Given the description of an element on the screen output the (x, y) to click on. 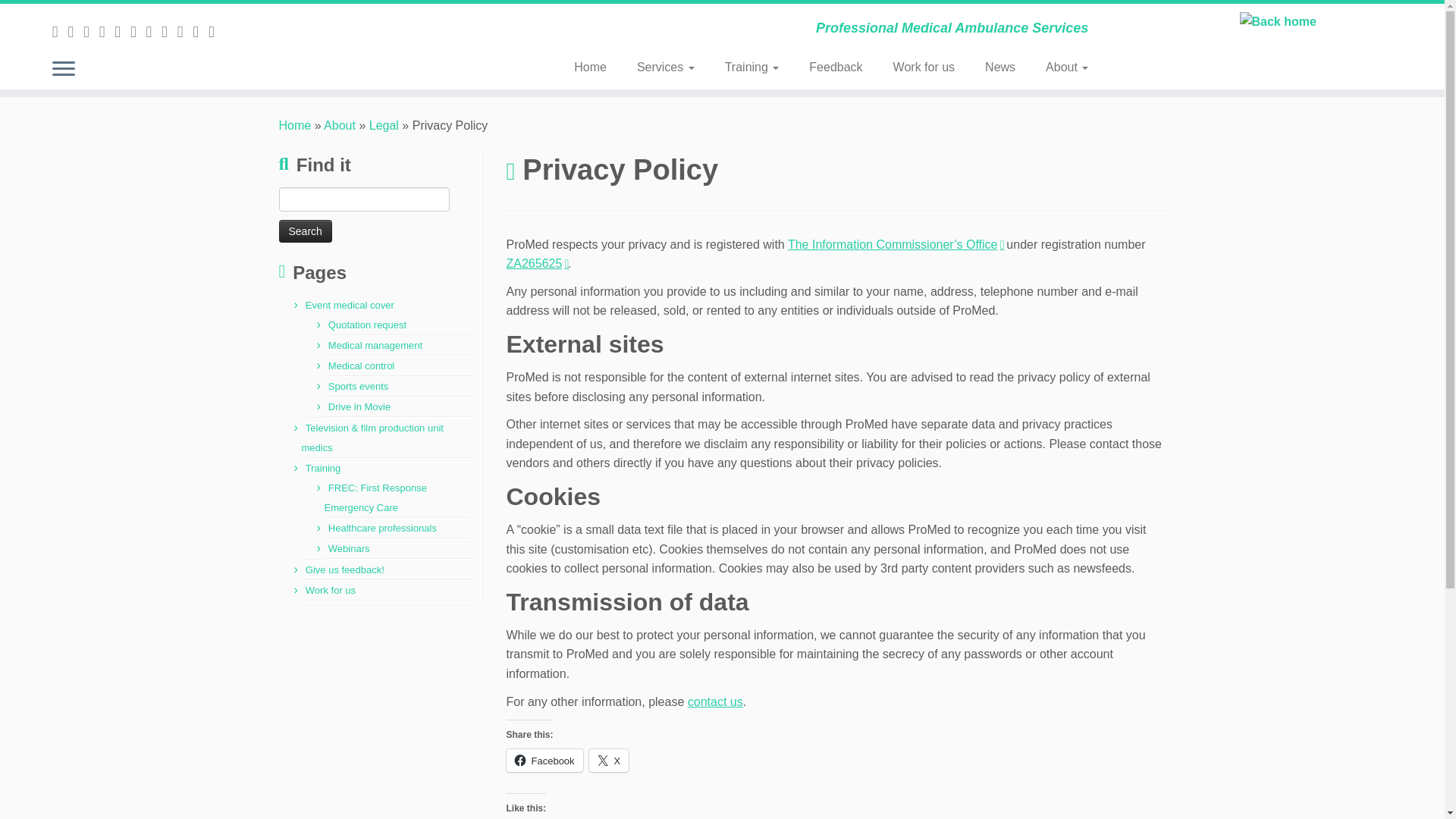
Send us a message via WhatsApp (90, 31)
Follow us on Pinterest (216, 31)
Search (305, 231)
View us on Google (185, 31)
Follow us on Linkedin (169, 31)
ProMed (295, 124)
Follow me on Instagram (153, 31)
Subscribe to my rss feed (60, 31)
Open the menu (63, 69)
Follow me on Twitter (139, 31)
Send us a text message (107, 31)
Send us an email (74, 31)
Follow us on Youtube (200, 31)
